Given the description of an element on the screen output the (x, y) to click on. 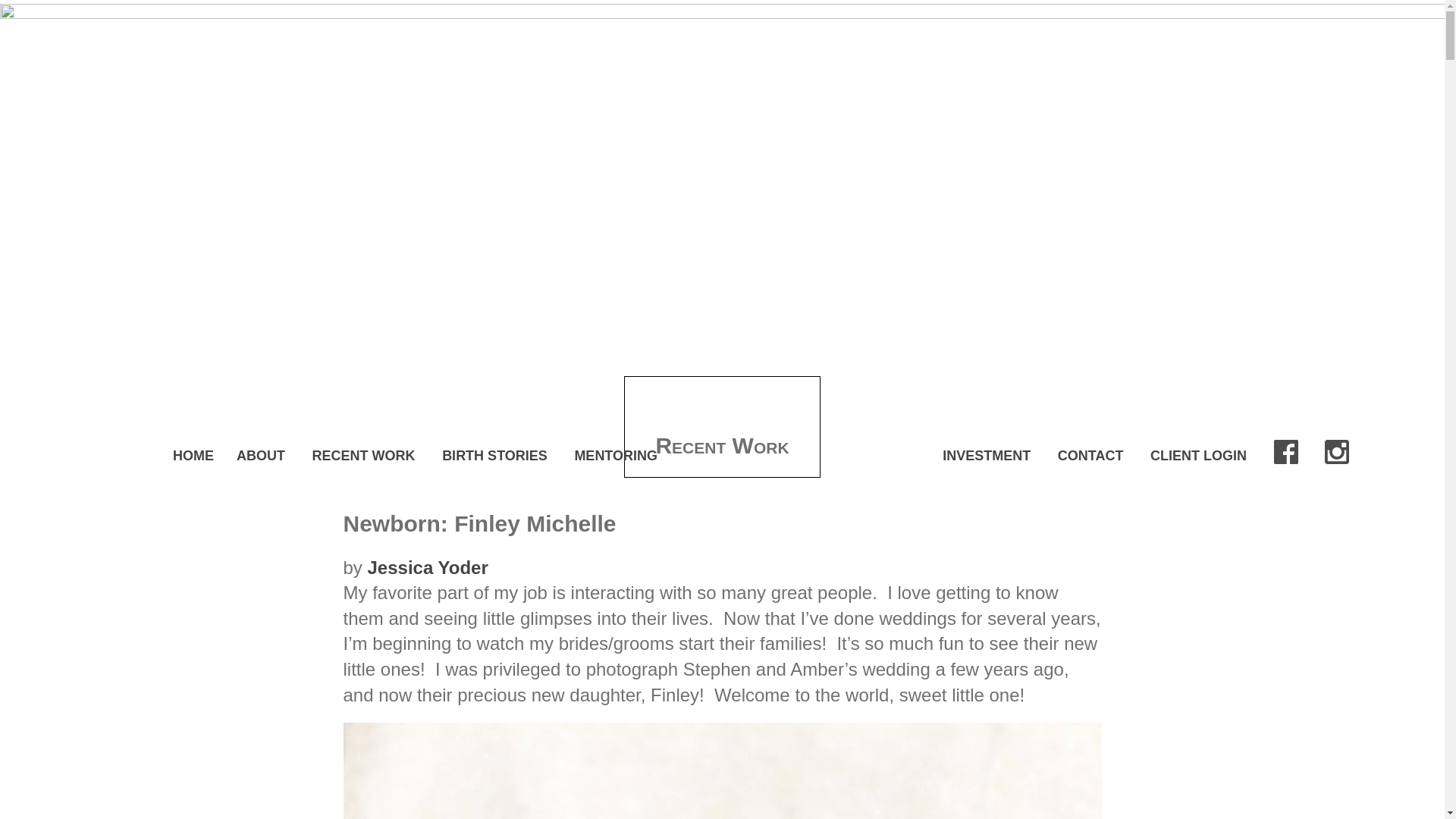
CONTACT (1091, 454)
Follow us on Instagram (1336, 451)
Jessica Yoder (427, 567)
HOME (193, 454)
ABOUT (260, 454)
Find us on Facebook (1286, 451)
RECENT WORK (363, 454)
View all posts by Jessica Yoder (427, 567)
MENTORING (615, 454)
BIRTH STORIES (494, 454)
INVESTMENT (986, 454)
CLIENT LOGIN (1198, 454)
